Given the description of an element on the screen output the (x, y) to click on. 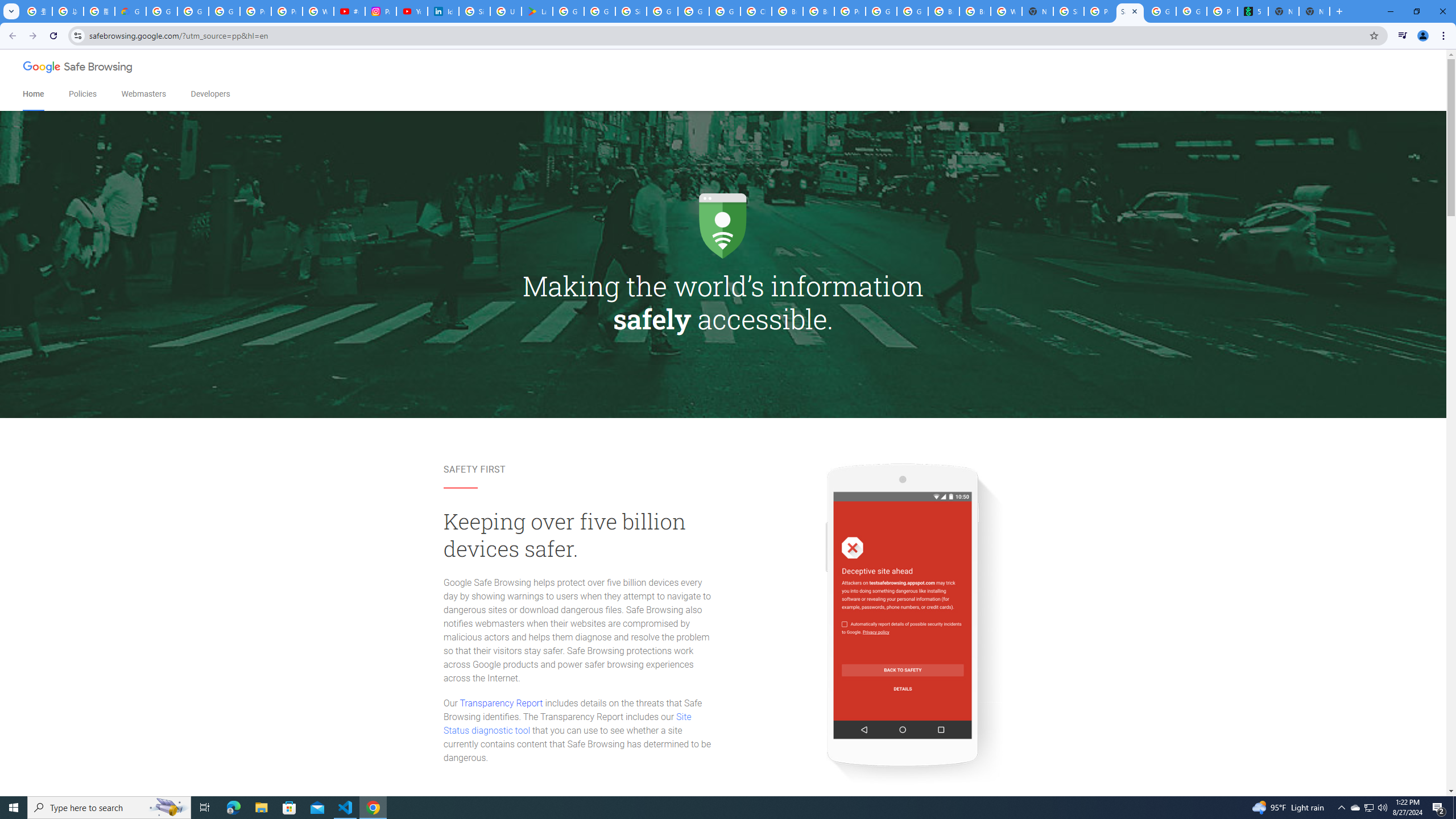
Sign in - Google Accounts (631, 11)
Google Cloud Platform (912, 11)
Identity verification via Persona | LinkedIn Help (443, 11)
Home (33, 94)
Google (42, 67)
YouTube Culture & Trends - On The Rise: Handcam Videos (411, 11)
New Tab (1037, 11)
Transparency Report (501, 703)
New Tab (1314, 11)
